Given the description of an element on the screen output the (x, y) to click on. 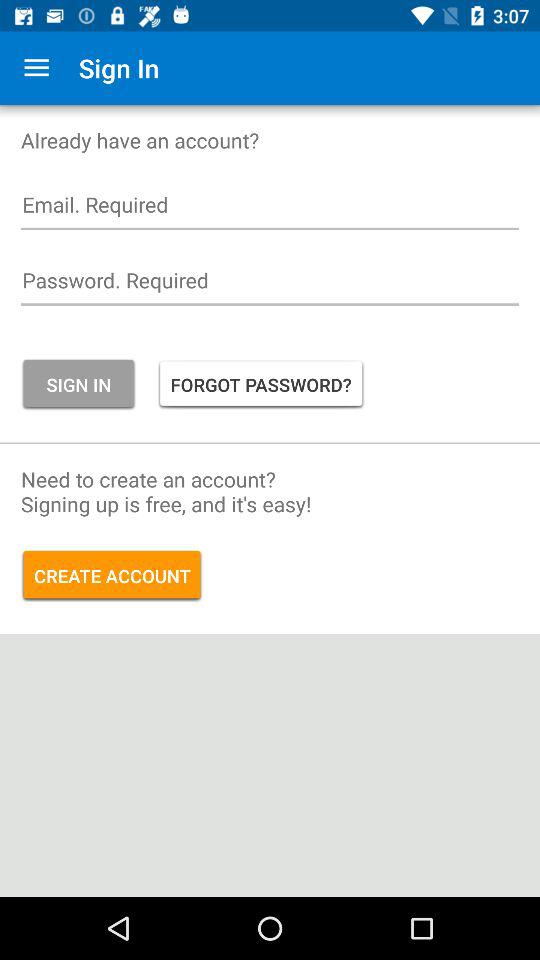
swipe until forgot password? icon (260, 384)
